Given the description of an element on the screen output the (x, y) to click on. 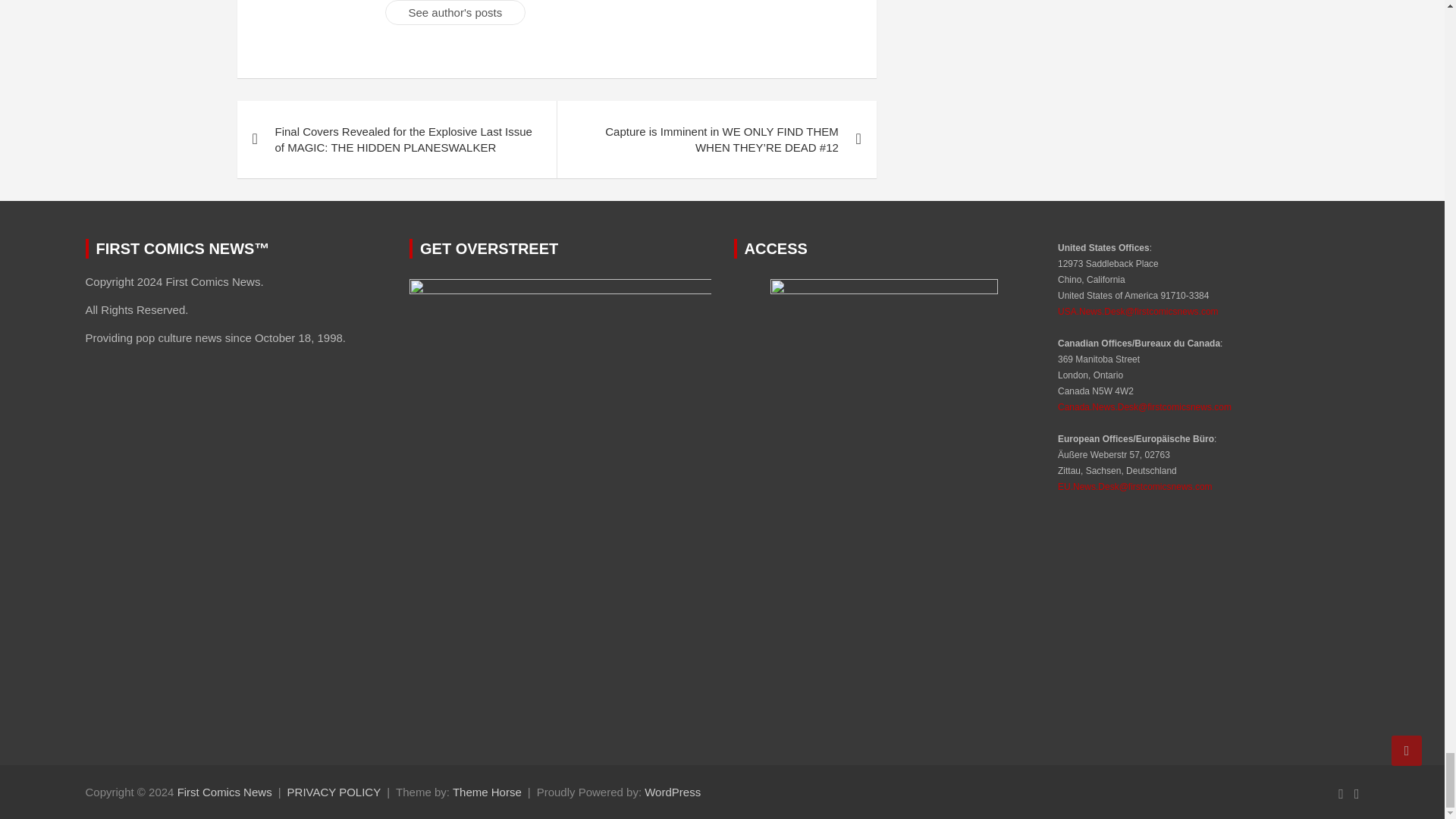
Theme Horse (486, 791)
WordPress (672, 791)
First Comics News (224, 791)
